Given the description of an element on the screen output the (x, y) to click on. 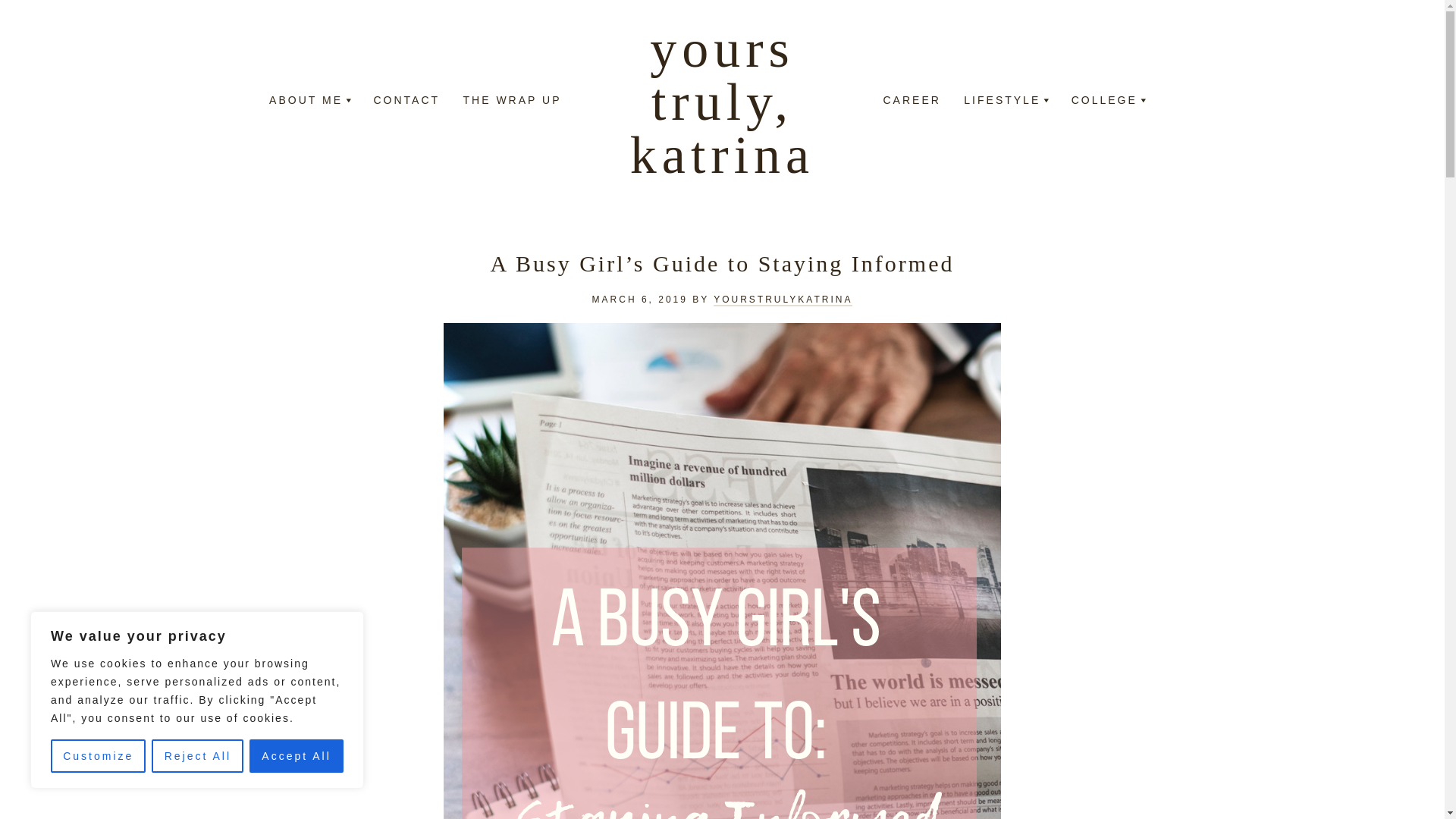
CAREER (911, 102)
ABOUT ME (305, 102)
LIFESTYLE (1002, 102)
CONTACT (405, 102)
yours truly, katrina (721, 101)
THE WRAP UP (512, 102)
Accept All (295, 756)
Reject All (197, 756)
YOURSTRULYKATRINA (782, 300)
Customize (97, 756)
COLLEGE (1104, 102)
